Given the description of an element on the screen output the (x, y) to click on. 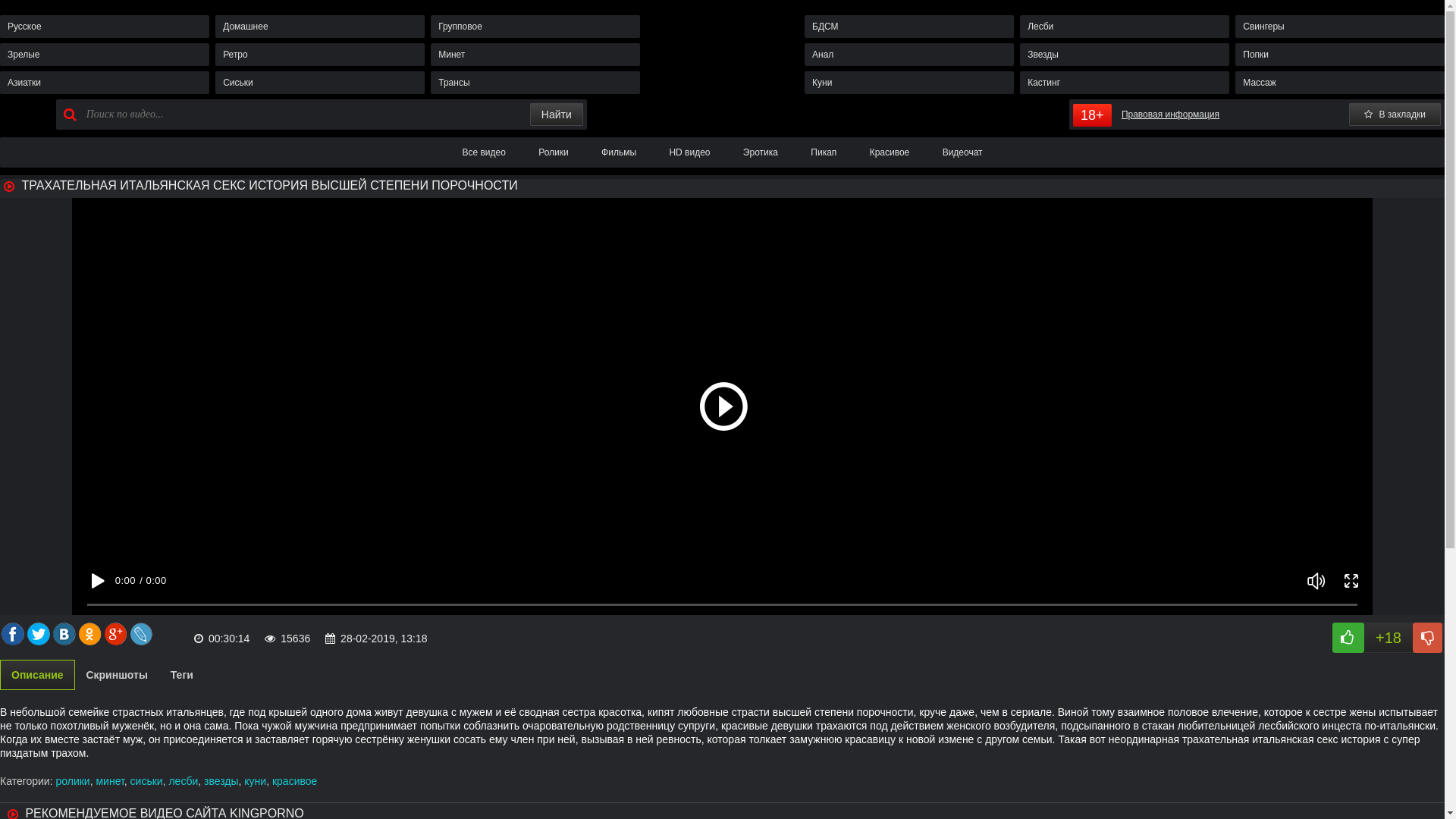
pjsfrrsplayer Element type: hover (722, 406)
